Given the description of an element on the screen output the (x, y) to click on. 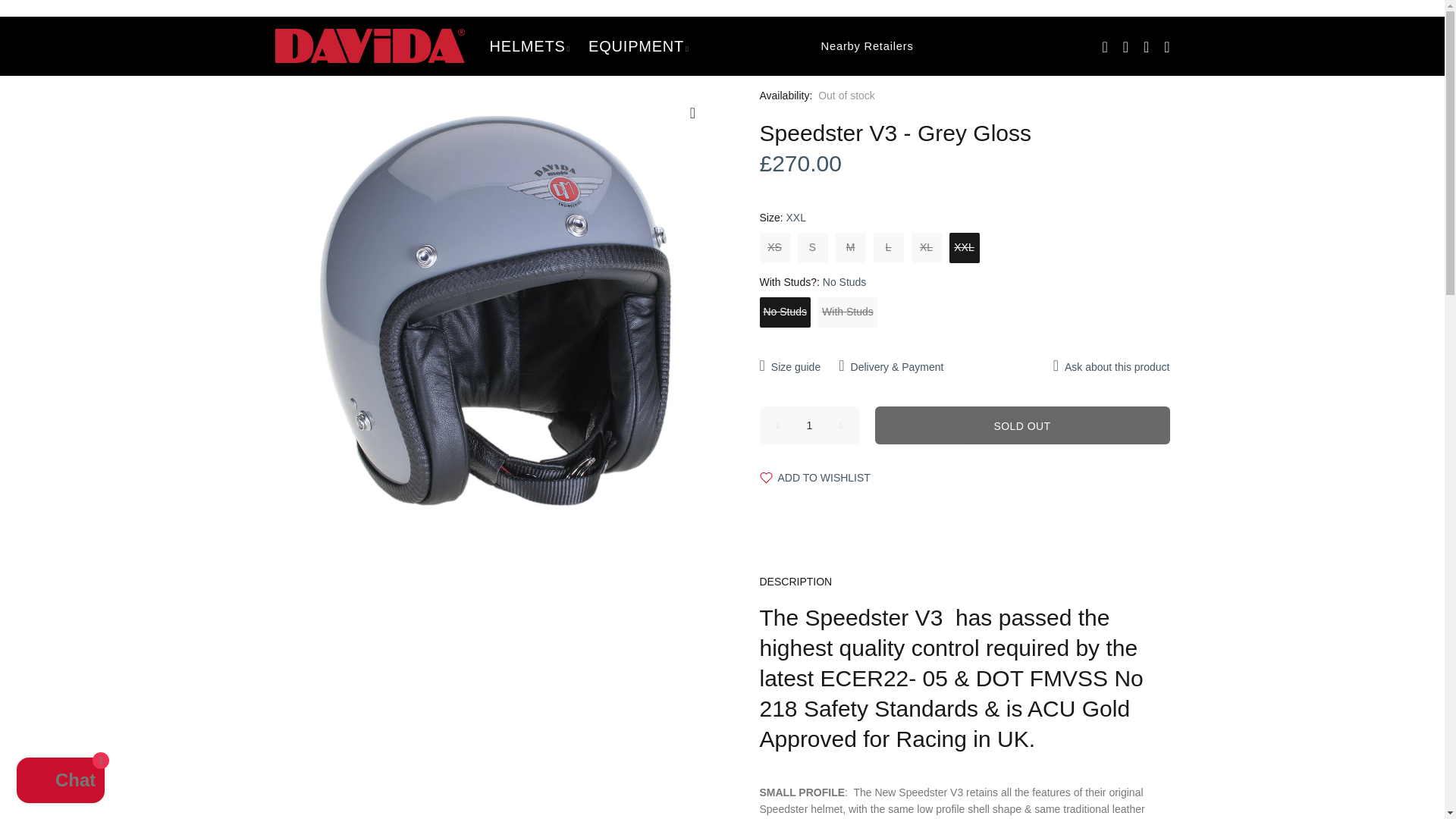
HELMETS (529, 45)
Nearby Retailers (806, 46)
EQUIPMENT (638, 45)
1 (810, 425)
Shopify online store chat (60, 781)
